Given the description of an element on the screen output the (x, y) to click on. 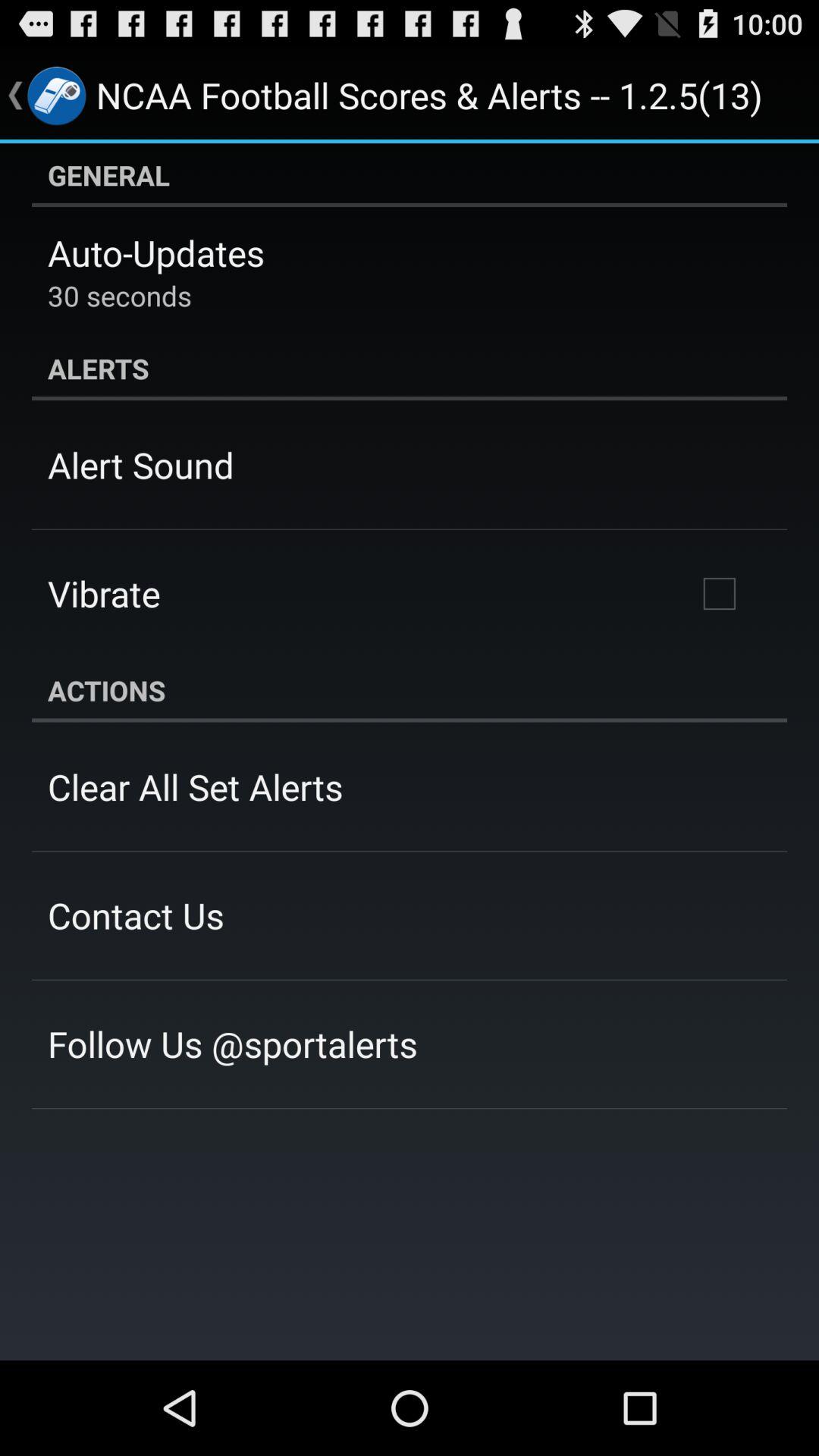
launch the app next to vibrate (719, 593)
